Given the description of an element on the screen output the (x, y) to click on. 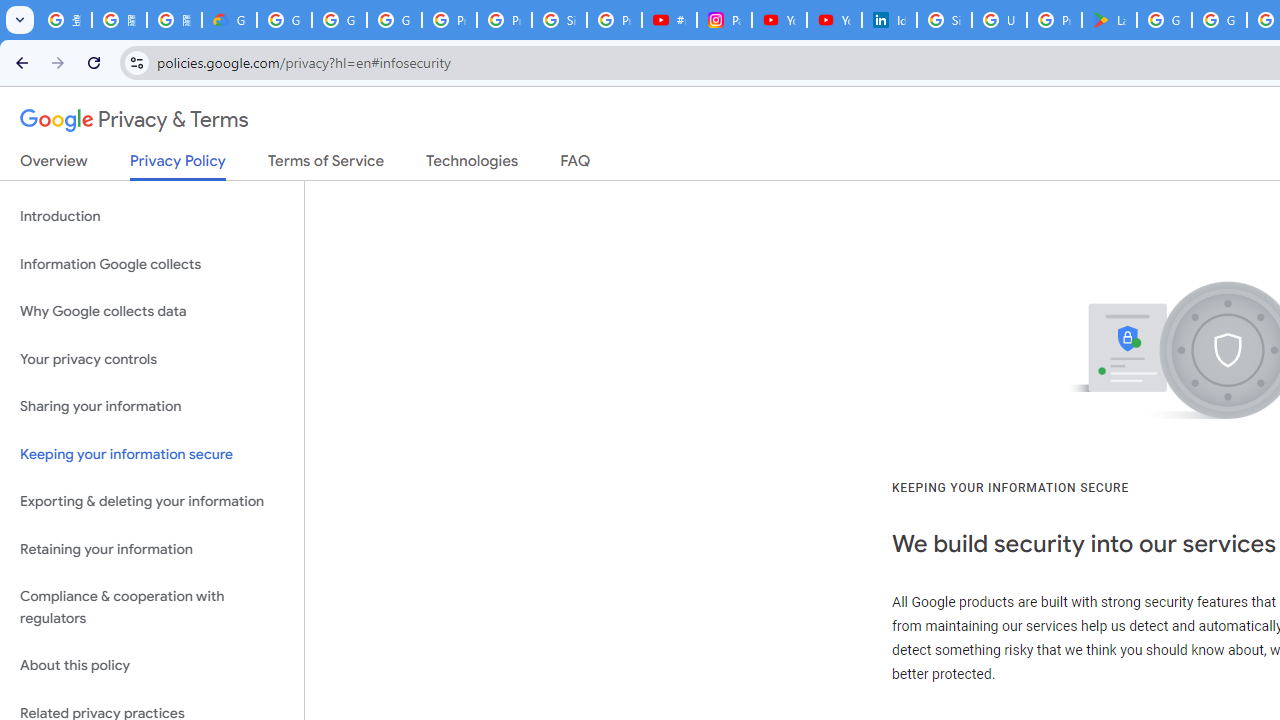
Privacy Help Center - Policies Help (504, 20)
Sign in - Google Accounts (943, 20)
